Given the description of an element on the screen output the (x, y) to click on. 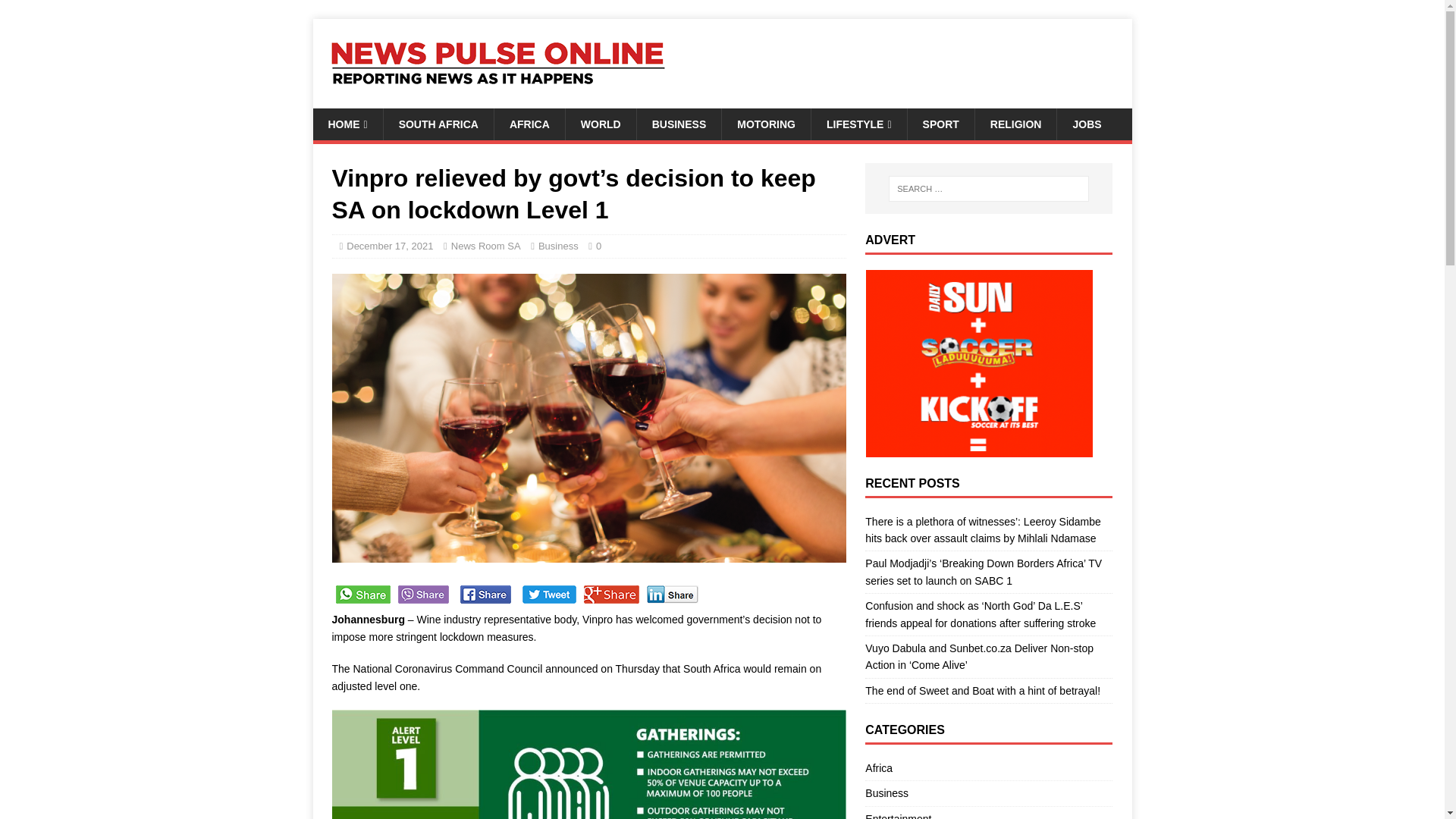
Business (558, 245)
December 17, 2021 (389, 245)
WORLD (600, 124)
JOBS (1086, 124)
LIFESTYLE (858, 124)
News Room SA (486, 245)
AFRICA (528, 124)
BUSINESS (679, 124)
SPORT (940, 124)
